Given the description of an element on the screen output the (x, y) to click on. 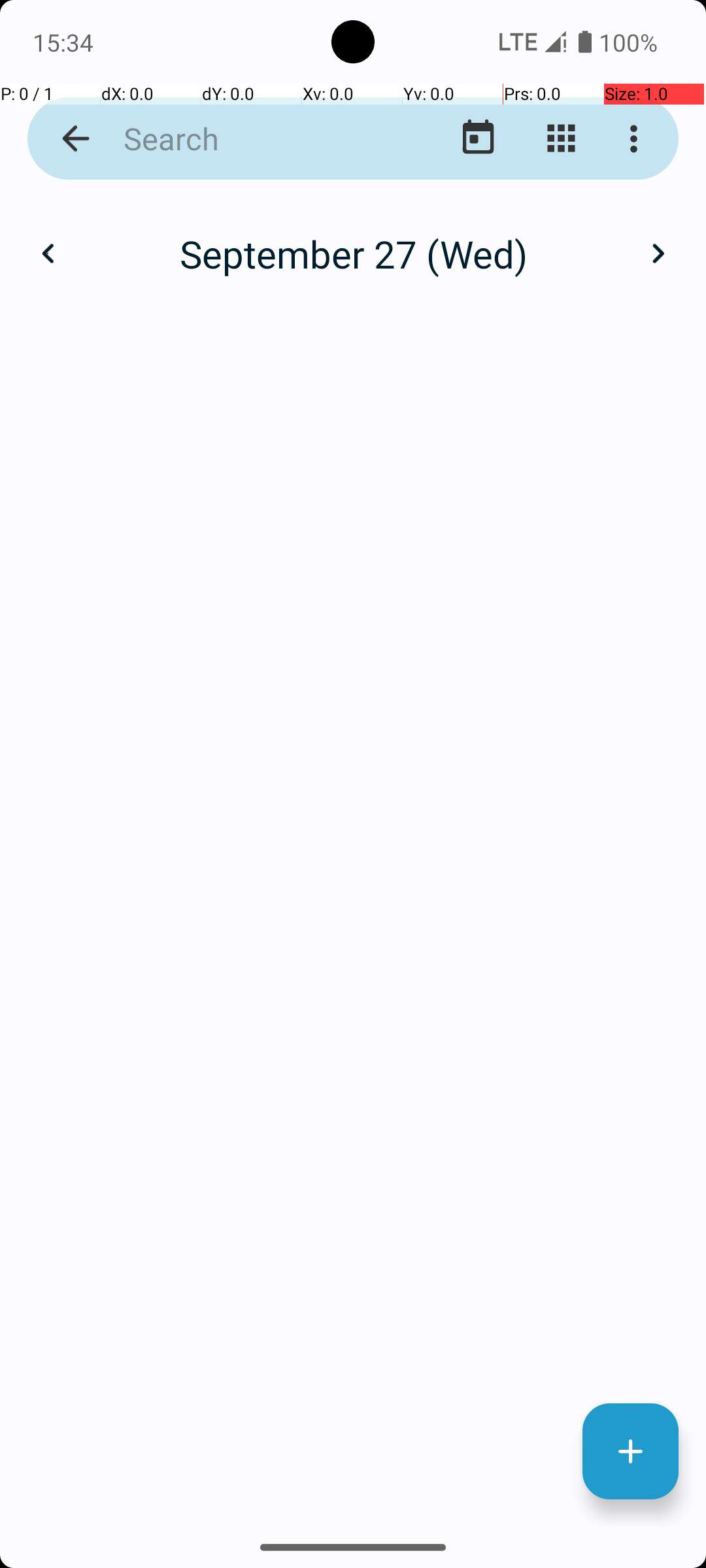
September 27 (Wed) Element type: android.widget.TextView (352, 253)
